Given the description of an element on the screen output the (x, y) to click on. 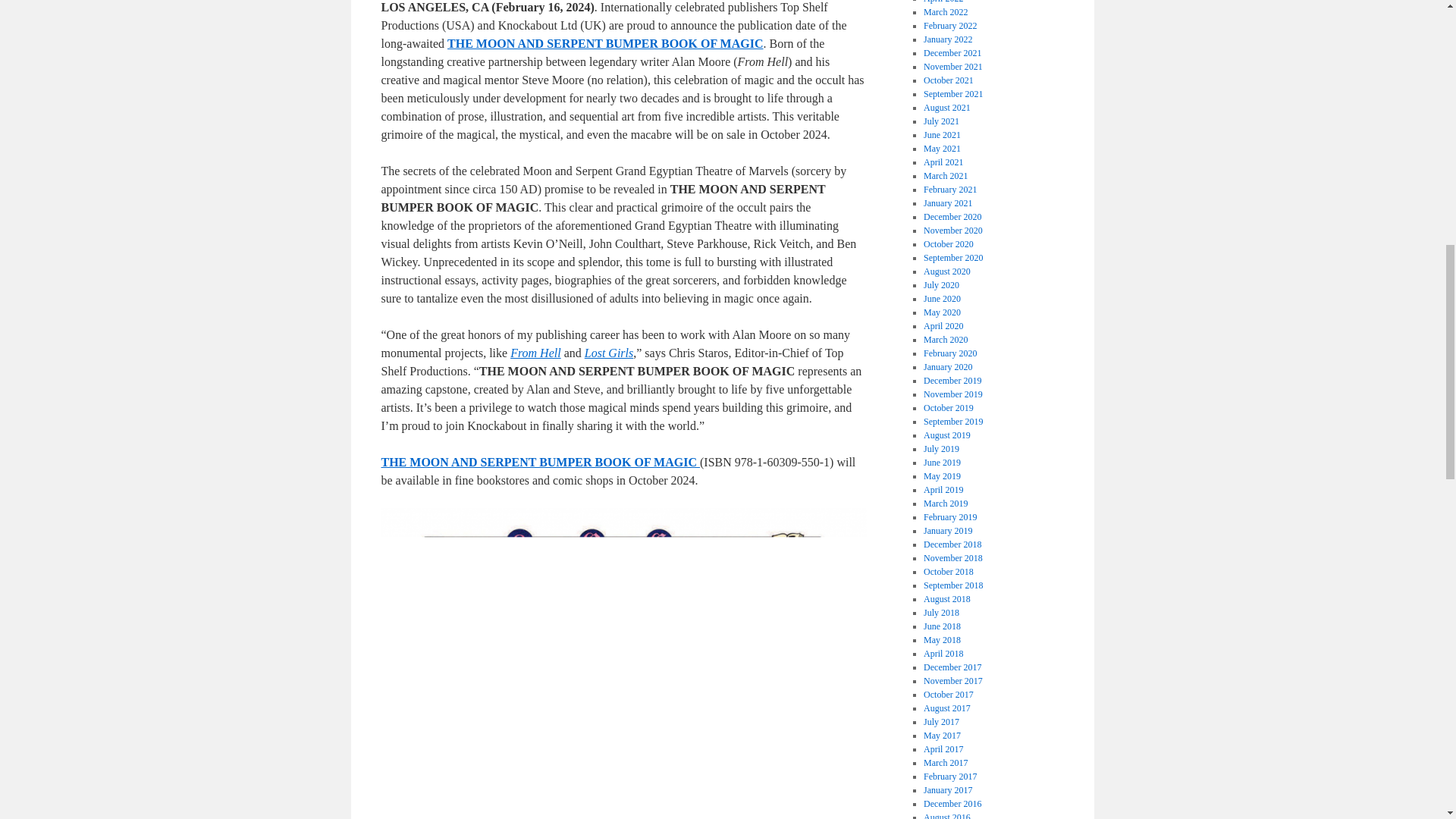
From Hell (535, 352)
Lost Girls (609, 352)
THE MOON AND SERPENT BUMPER BOOK OF MAGIC  (539, 461)
THE MOON AND SERPENT BUMPER BOOK OF MAGIC (604, 42)
